Given the description of an element on the screen output the (x, y) to click on. 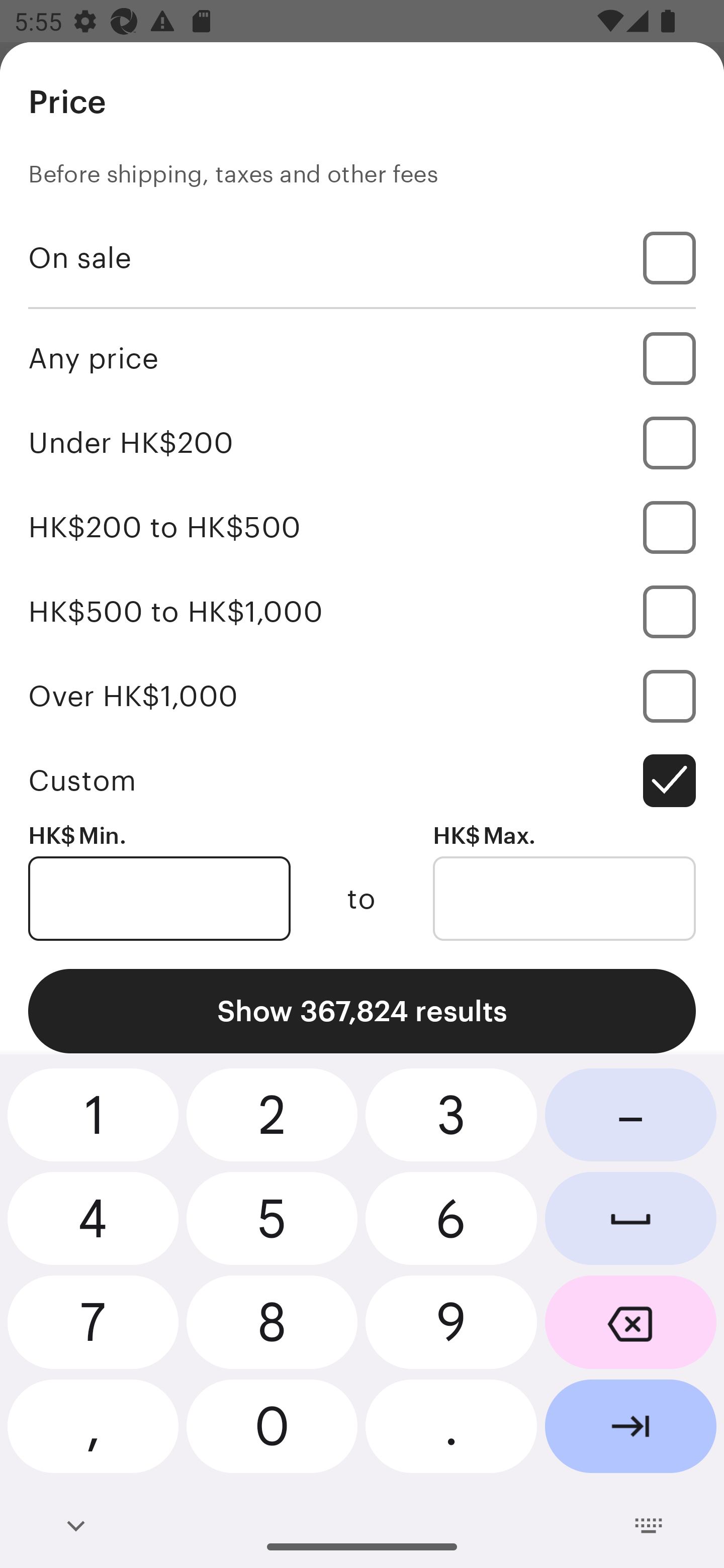
On sale (362, 257)
Any price (362, 357)
Under HK$200 (362, 441)
HK$200 to HK$500 (362, 526)
HK$500 to HK$1,000 (362, 611)
Over HK$1,000 (362, 695)
Custom (362, 780)
Show 367,824 results (361, 1011)
